Given the description of an element on the screen output the (x, y) to click on. 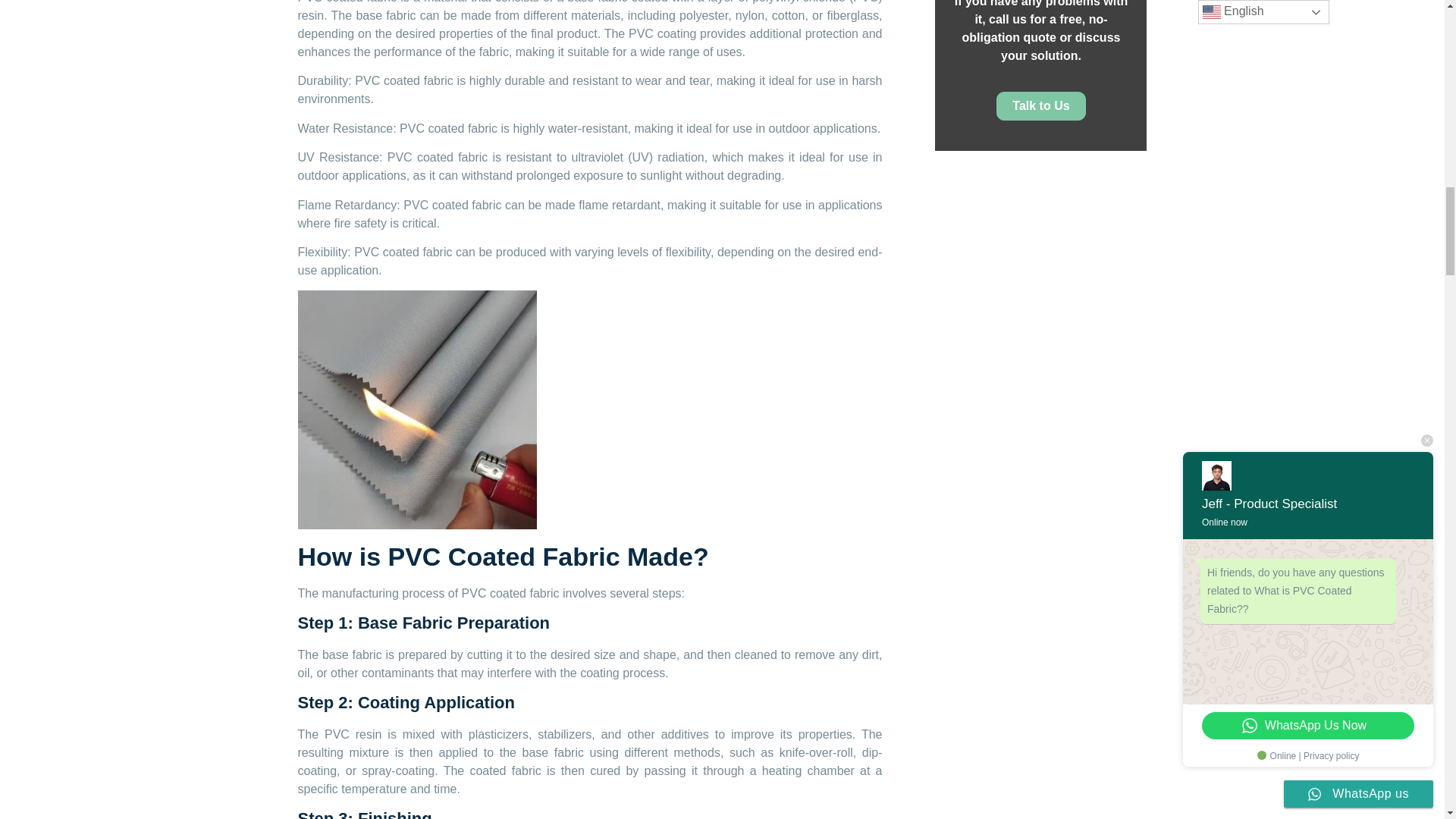
Talk to Us (1040, 105)
